Given the description of an element on the screen output the (x, y) to click on. 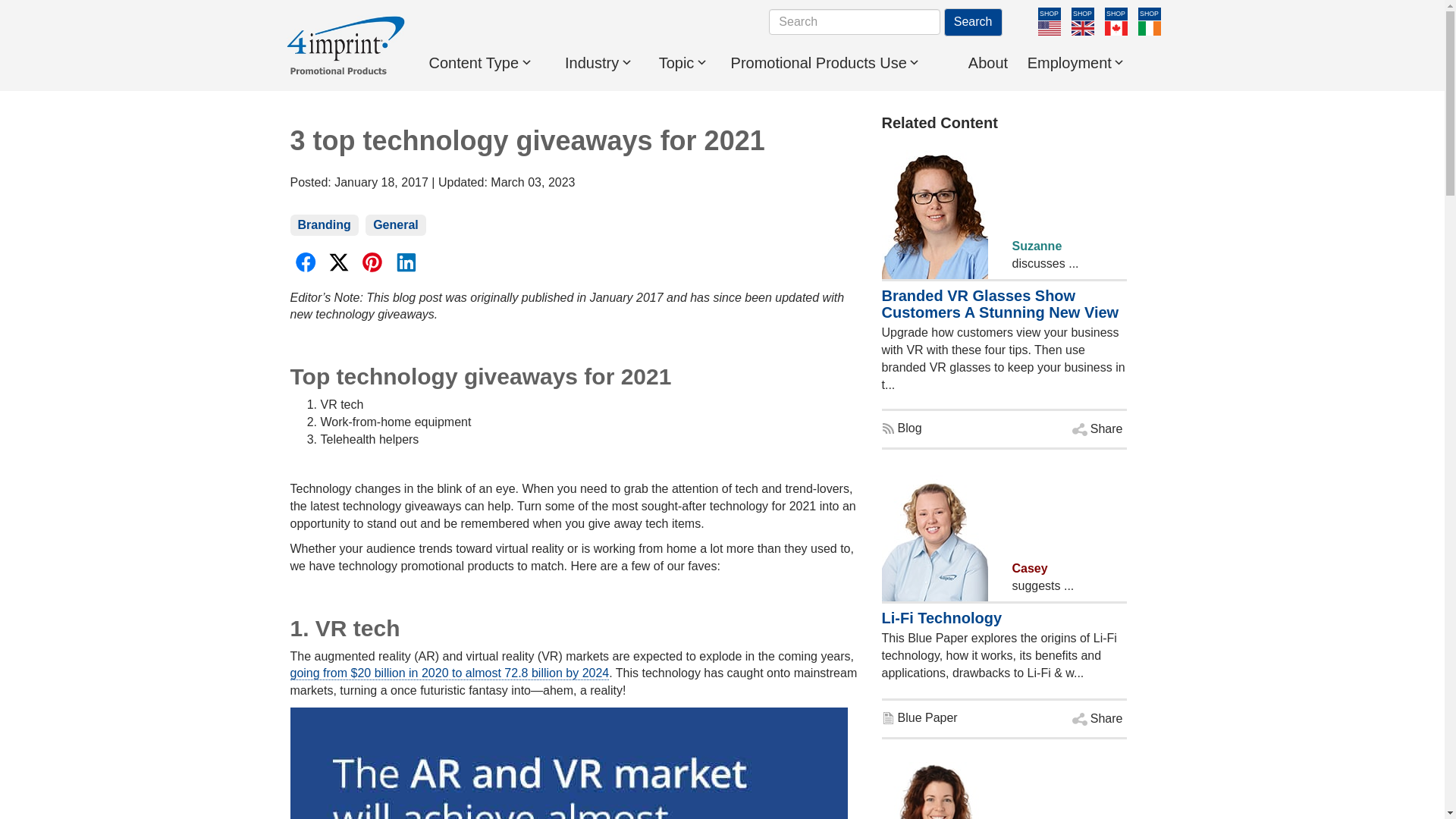
4imprint US site, opens in a new window (1047, 28)
View Branded VR Glasses Show Customers a Stunning New View (900, 427)
View Li-Fi Technology (918, 717)
Shop (1148, 13)
Shop (1047, 13)
Shop (1114, 13)
4imprint UK site, opens in a new window (1081, 28)
4imprint Canada site, opens in a new window (1114, 28)
Search (973, 22)
